Given the description of an element on the screen output the (x, y) to click on. 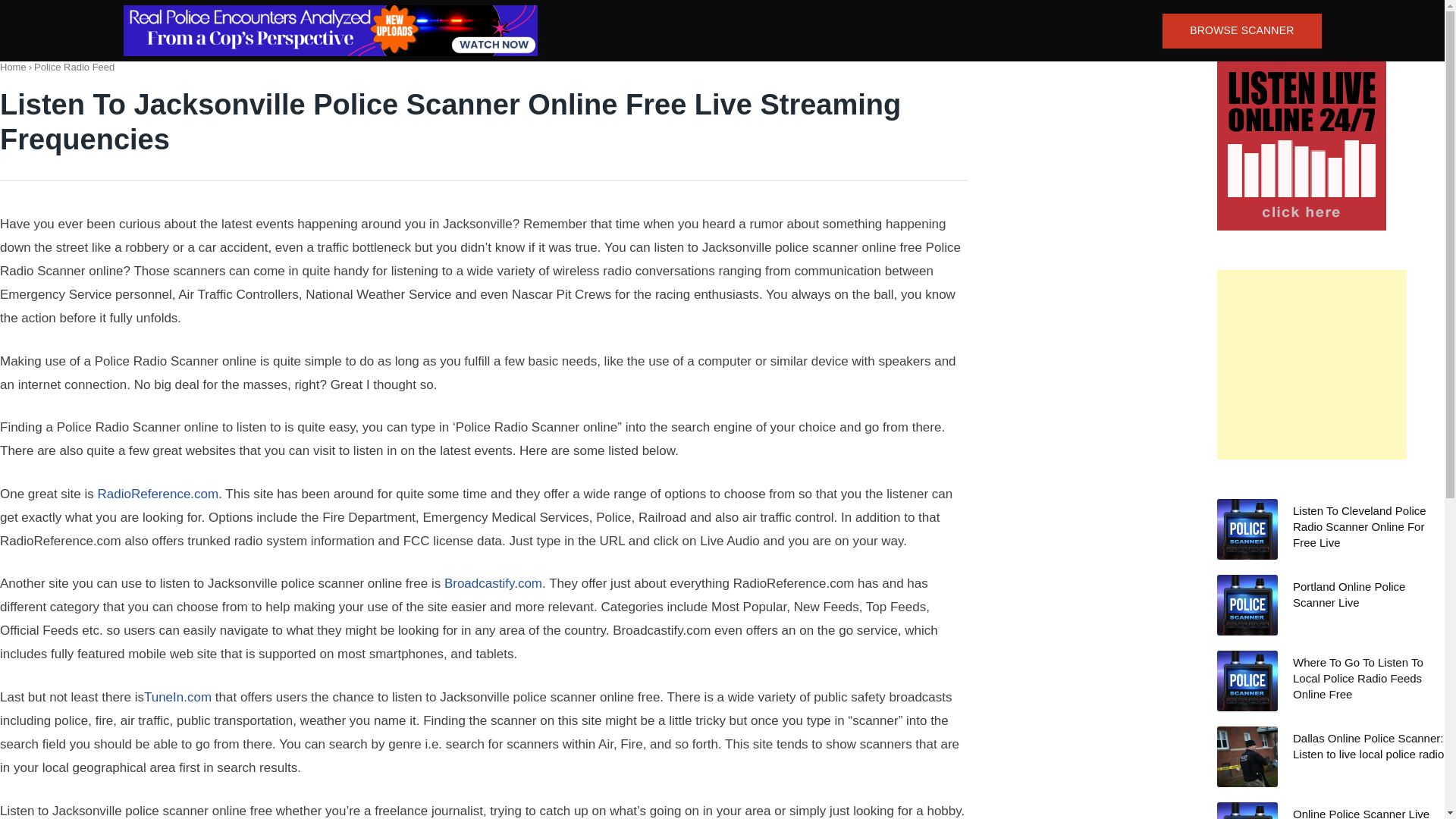
Police Radio Feed (74, 66)
BROWSE SCANNER (1240, 30)
RadioReference.com (158, 493)
Advertisement (1311, 364)
Broadcastify.com (492, 583)
TuneIn.com (177, 697)
Home (13, 66)
